Given the description of an element on the screen output the (x, y) to click on. 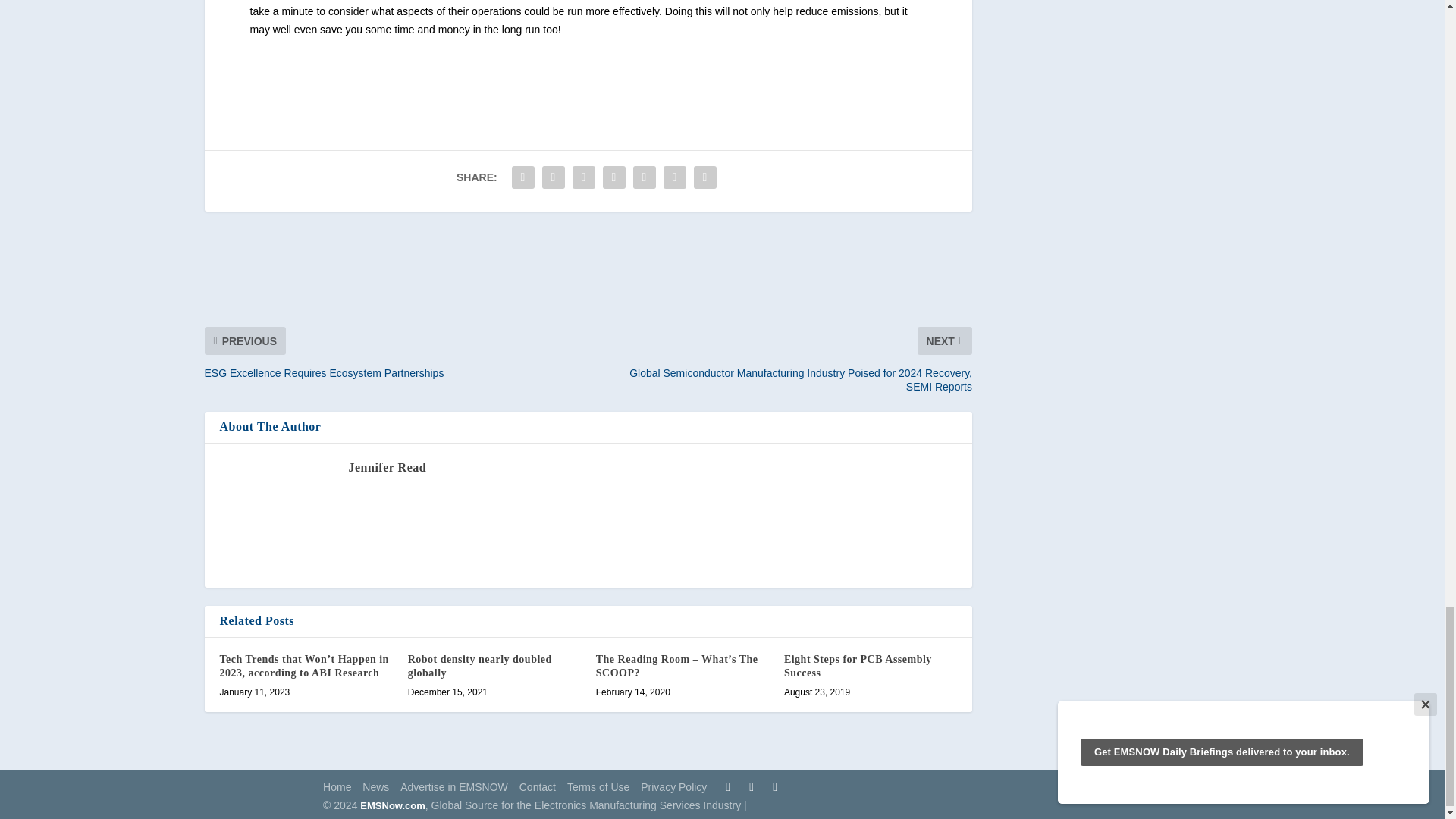
EMSNow.com (392, 805)
View all posts by Jennifer Read (387, 467)
